Given the description of an element on the screen output the (x, y) to click on. 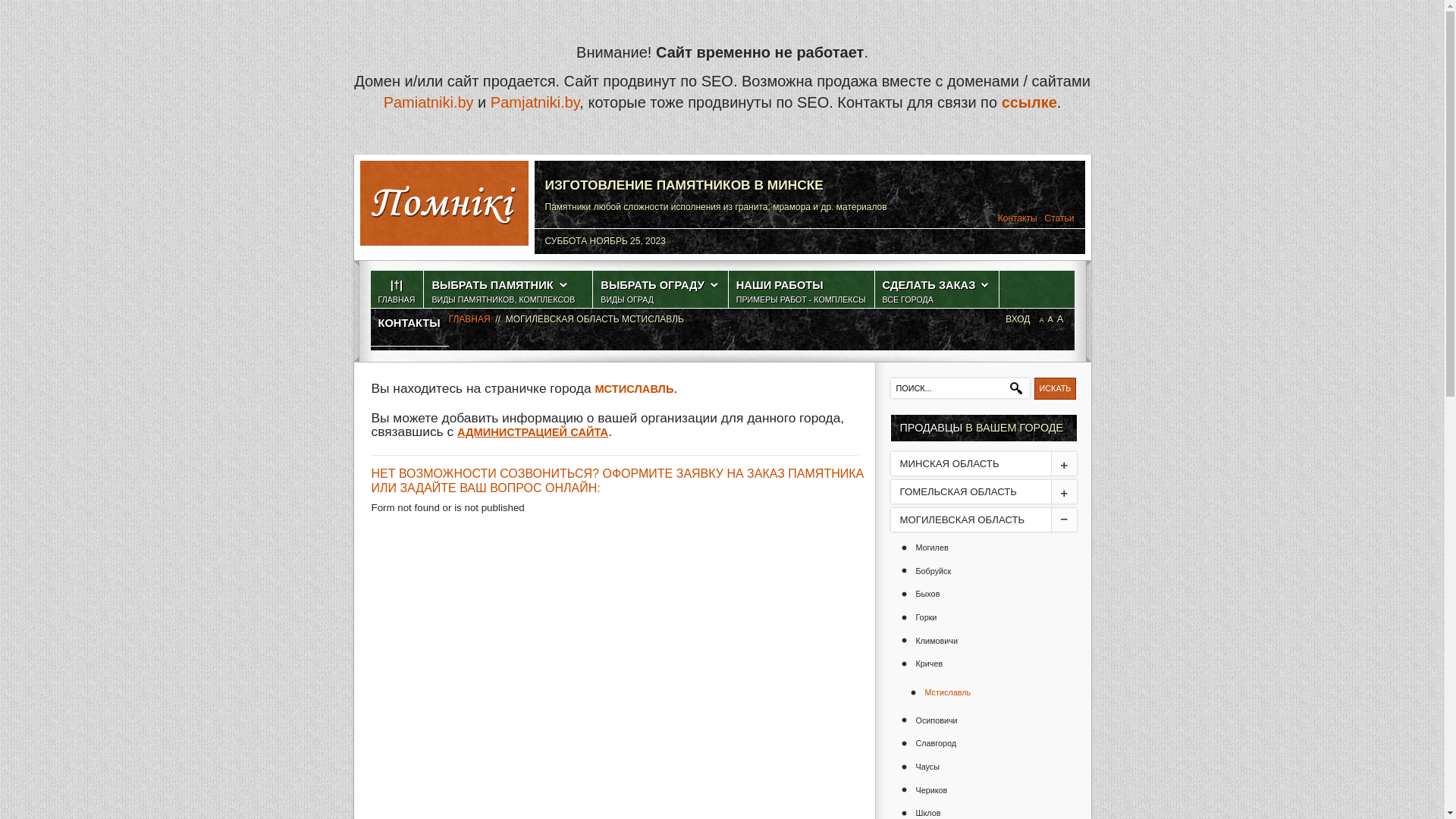
A Element type: text (1060, 318)
A Element type: text (1049, 318)
A Element type: text (1040, 319)
Pamiatniki.by Element type: text (428, 102)
Pamjatniki.by Element type: text (534, 102)
